Given the description of an element on the screen output the (x, y) to click on. 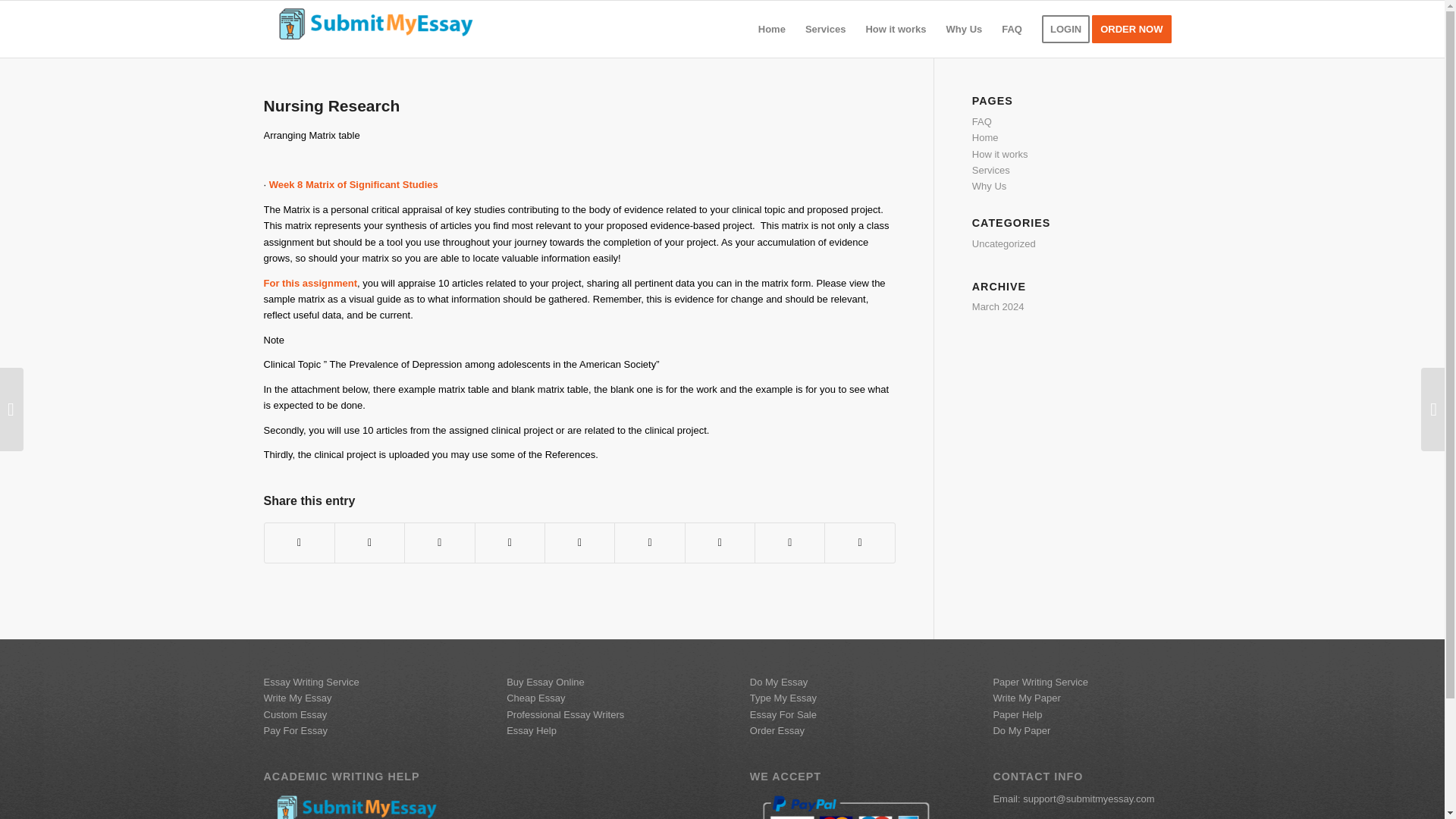
Why Us (964, 28)
ORDER NOW (1136, 28)
LOGIN (1065, 28)
Nursing Research (331, 105)
Services (825, 28)
How it works (999, 153)
Why Us (989, 185)
Uncategorized (1003, 243)
FAQ (981, 121)
Permanent Link: Nursing Research (331, 105)
